Given the description of an element on the screen output the (x, y) to click on. 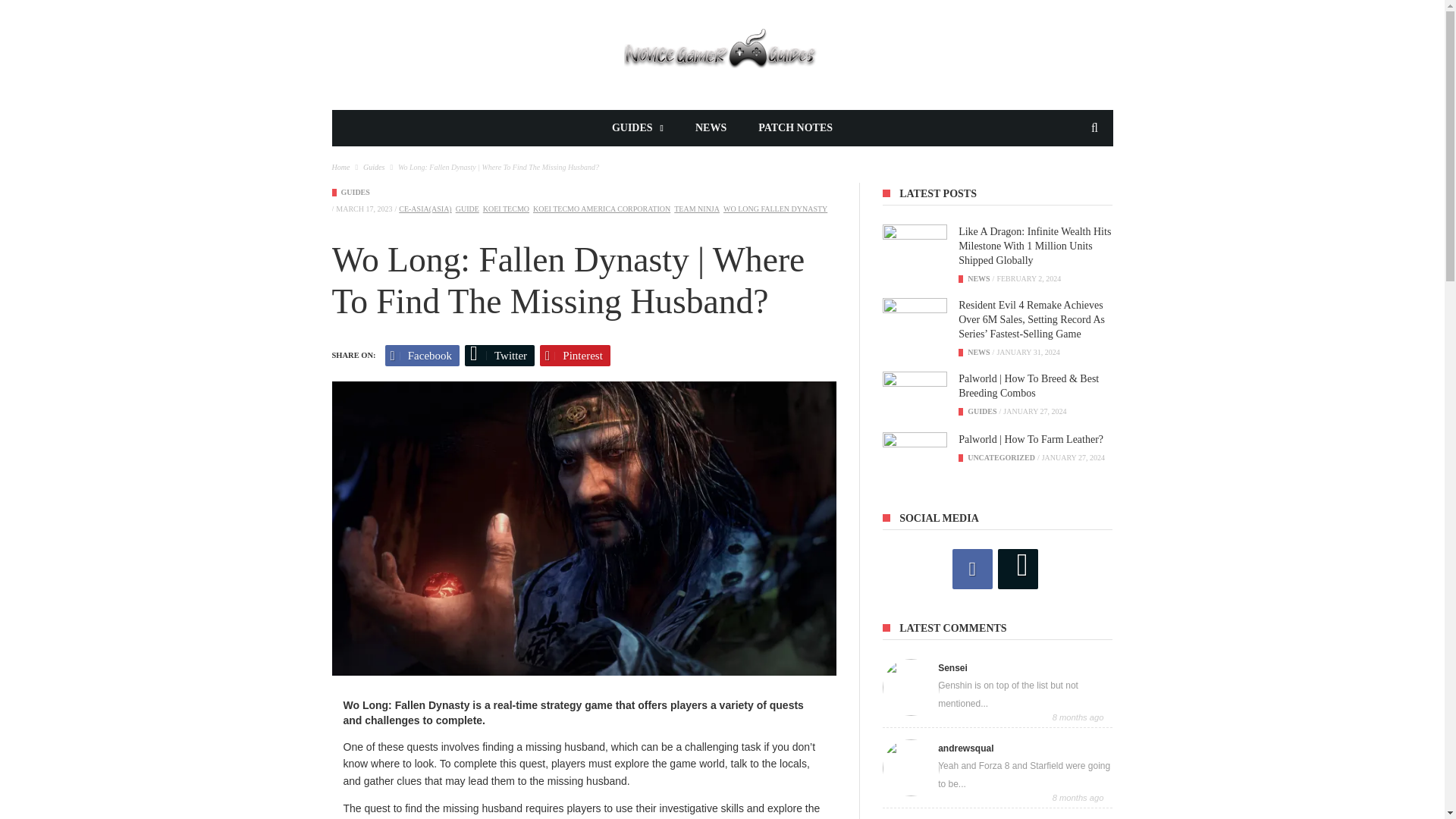
GUIDES (637, 127)
Twitter (499, 355)
TEAM NINJA (696, 208)
GUIDES (354, 192)
KOEI TECMO AMERICA Corporation (600, 208)
Team Ninja (696, 208)
Home (340, 166)
PATCH NOTES (795, 127)
Guides (354, 192)
WO LONG FALLEN DYNASTY (775, 208)
guide (467, 208)
KOEI TECMO AMERICA CORPORATION (600, 208)
NEWS (710, 127)
Koei Tecmo (506, 208)
KOEI TECMO (506, 208)
